Given the description of an element on the screen output the (x, y) to click on. 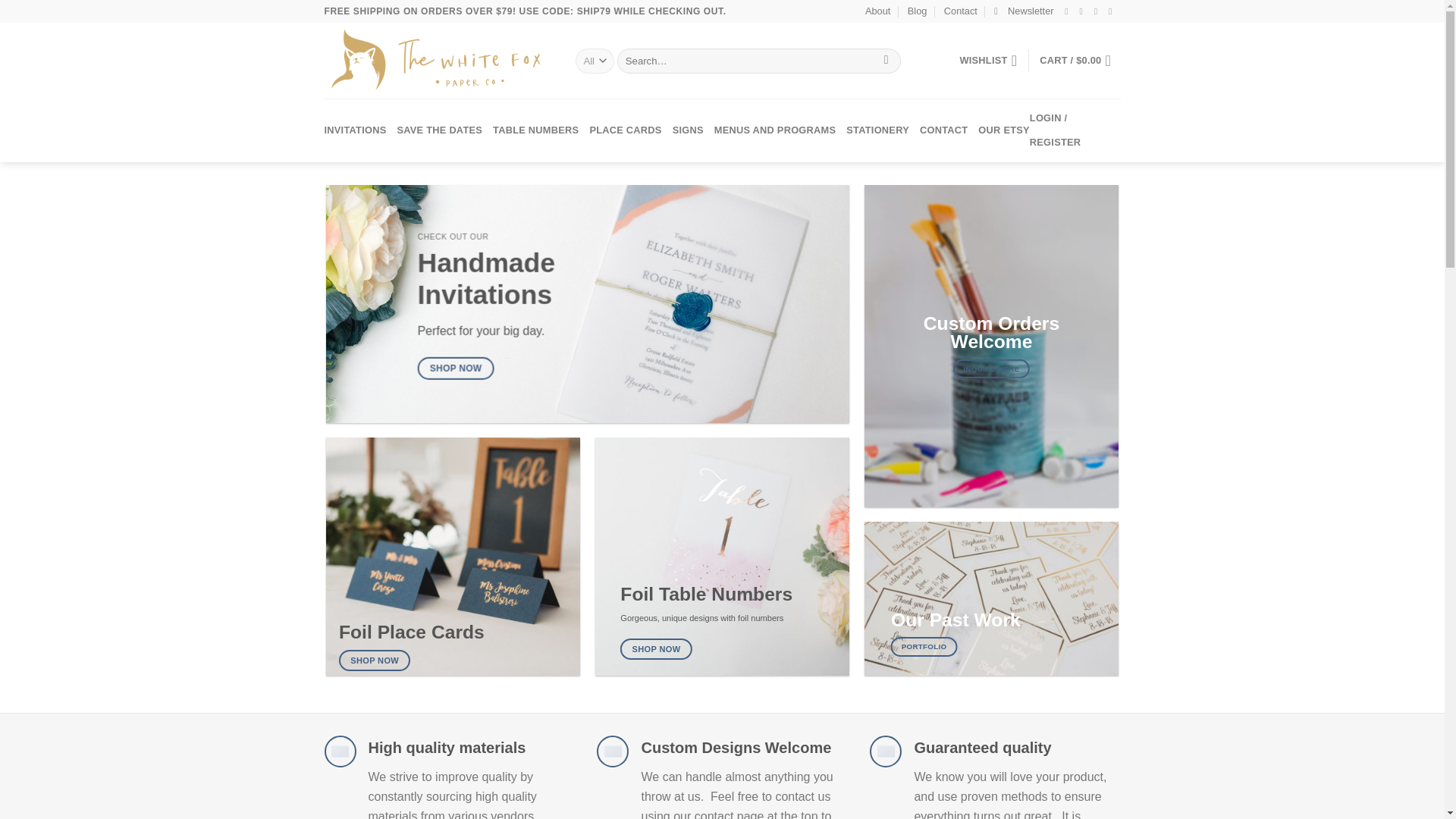
Search (885, 61)
OUR ETSY (1003, 129)
PORTFOLIO (923, 646)
WISHLIST (987, 60)
CONTACT (944, 129)
MENUS AND PROGRAMS (774, 129)
SAVE THE DATES (438, 129)
Cart (1079, 60)
SHOP NOW (456, 367)
TABLE NUMBERS (535, 129)
SHOP NOW (655, 649)
PLACE CARDS (625, 129)
INQUIRE HERE (991, 368)
STATIONERY (876, 129)
Newsletter (1023, 11)
